Given the description of an element on the screen output the (x, y) to click on. 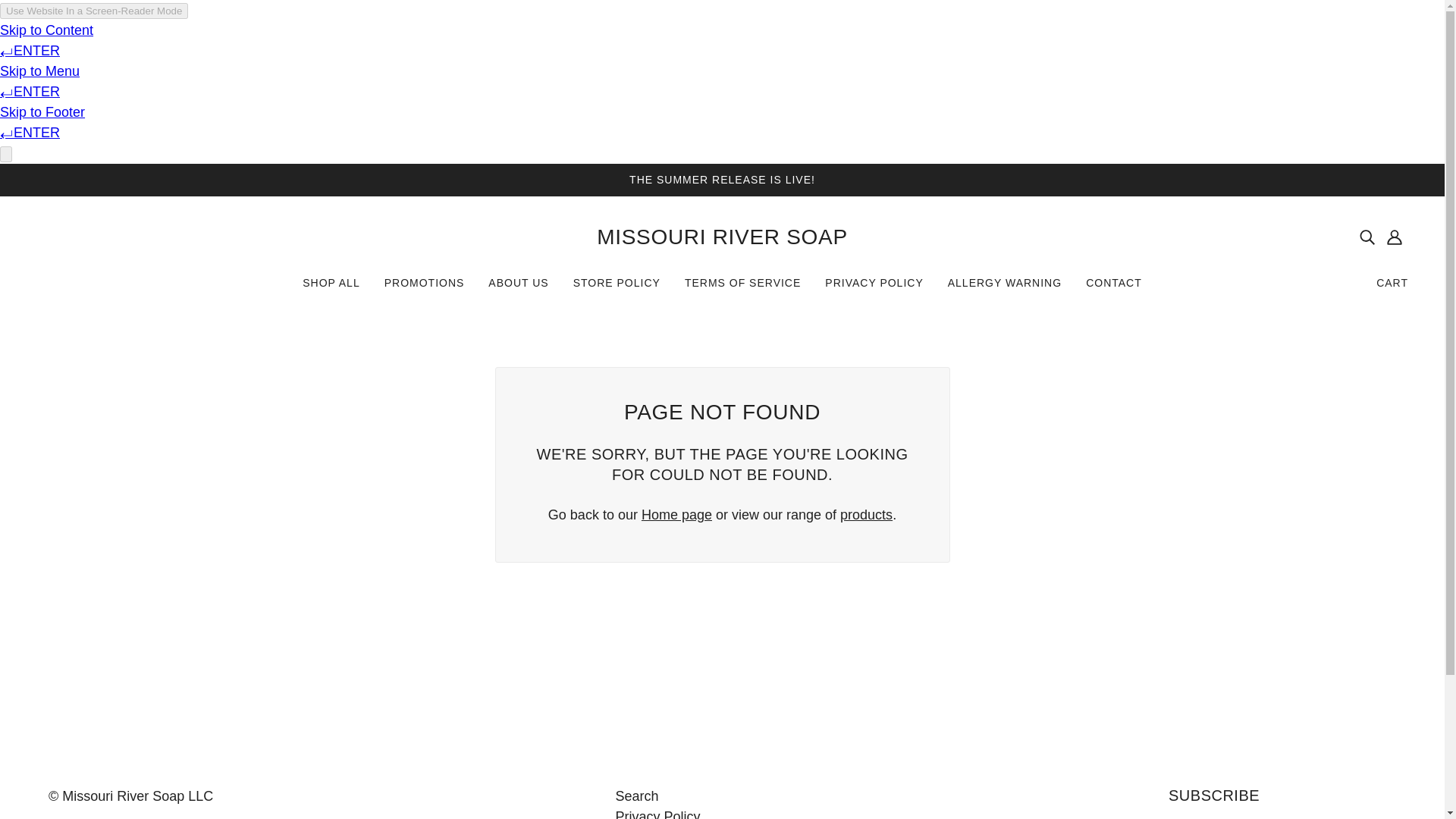
PRIVACY POLICY (873, 288)
PROMOTIONS (424, 288)
Privacy Policy (657, 813)
ALLERGY WARNING (1005, 288)
ABOUT US (518, 288)
products (866, 514)
TERMS OF SERVICE (742, 288)
CART (1392, 282)
Search (636, 795)
MISSOURI RIVER SOAP (721, 236)
SHOP ALL (330, 288)
Home page (676, 514)
Search (636, 795)
STORE POLICY (616, 288)
CONTACT (1114, 288)
